Given the description of an element on the screen output the (x, y) to click on. 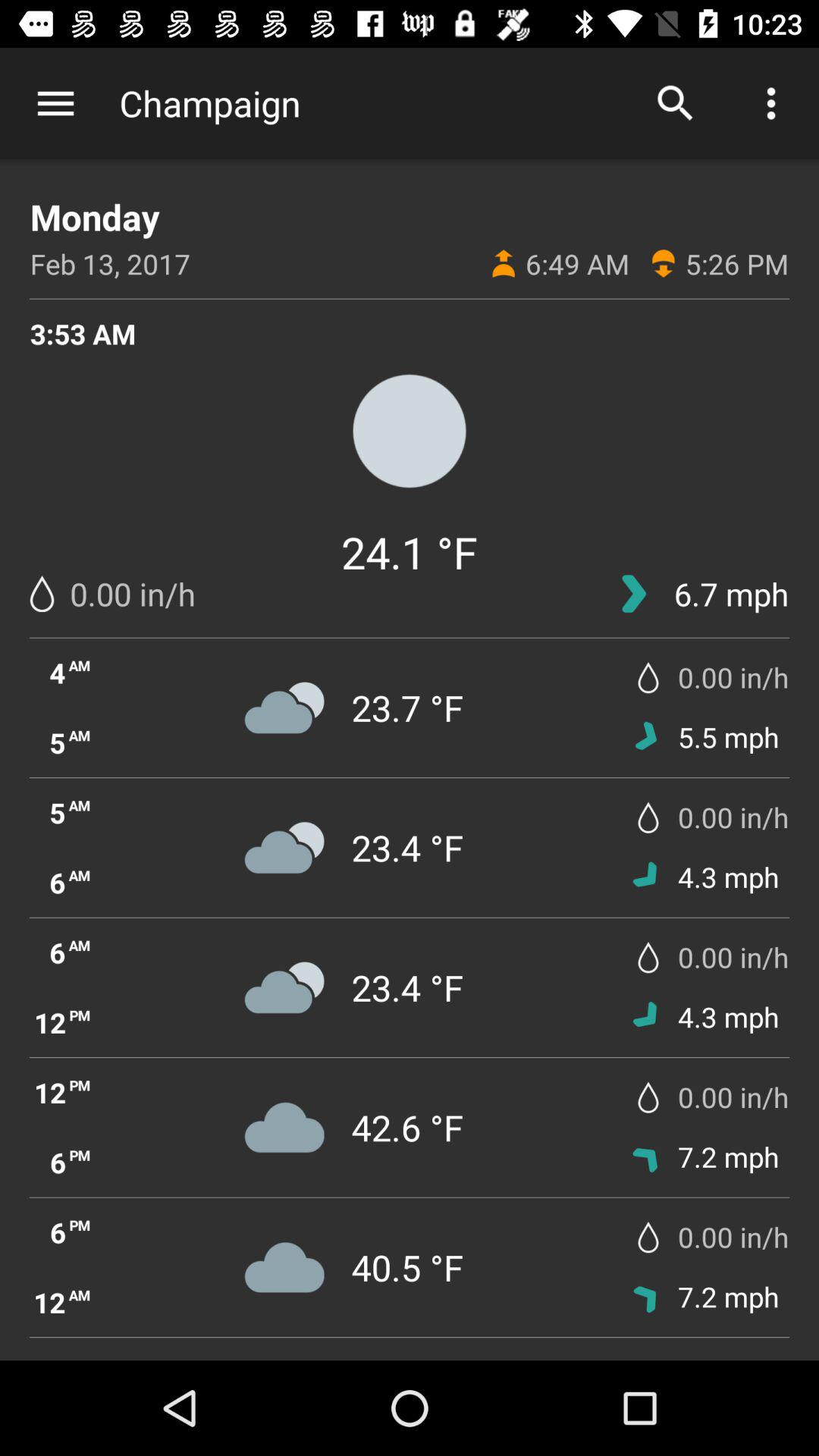
open item next to the champaign item (675, 103)
